Given the description of an element on the screen output the (x, y) to click on. 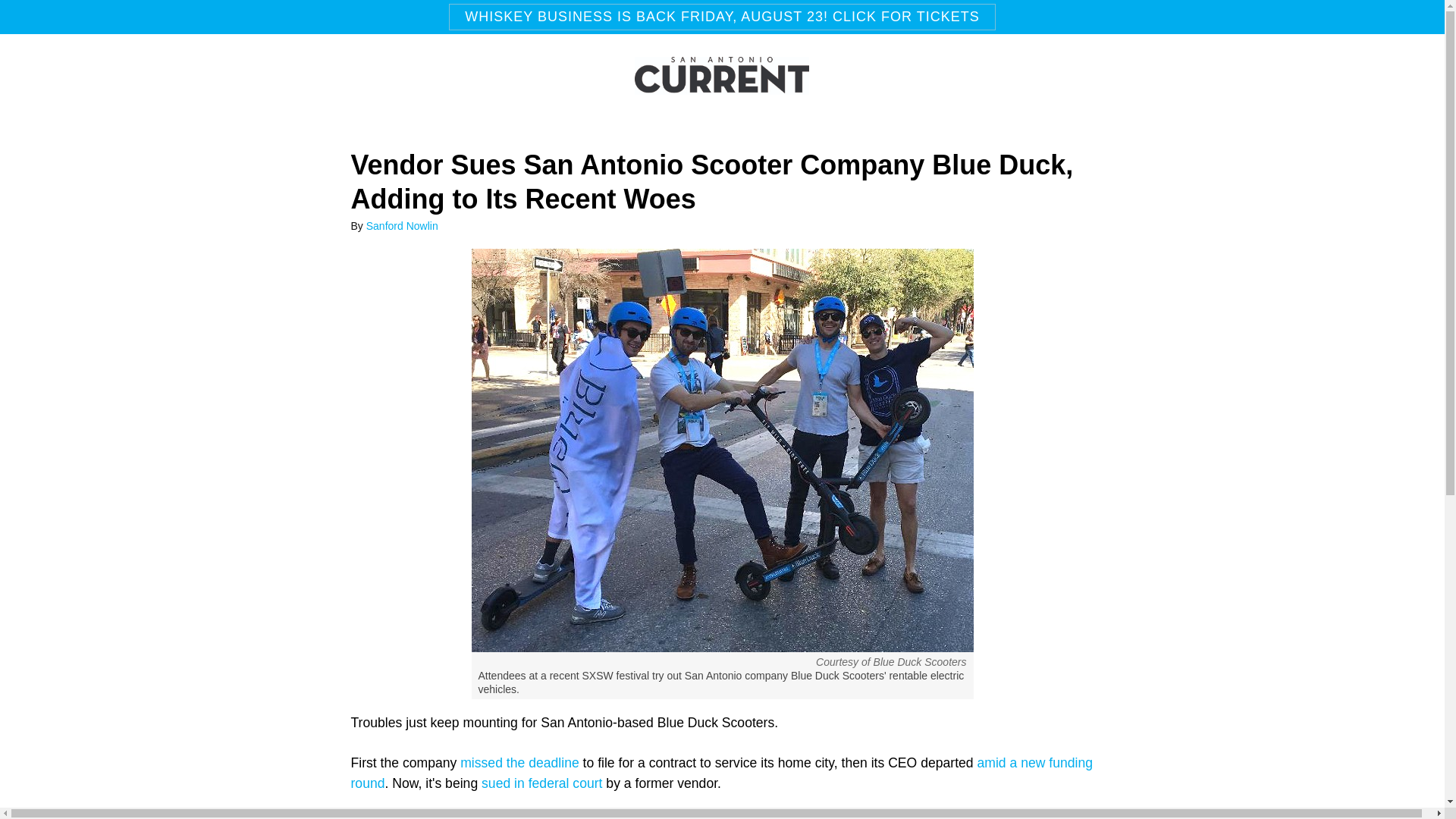
San Antonio Current (721, 85)
